Given the description of an element on the screen output the (x, y) to click on. 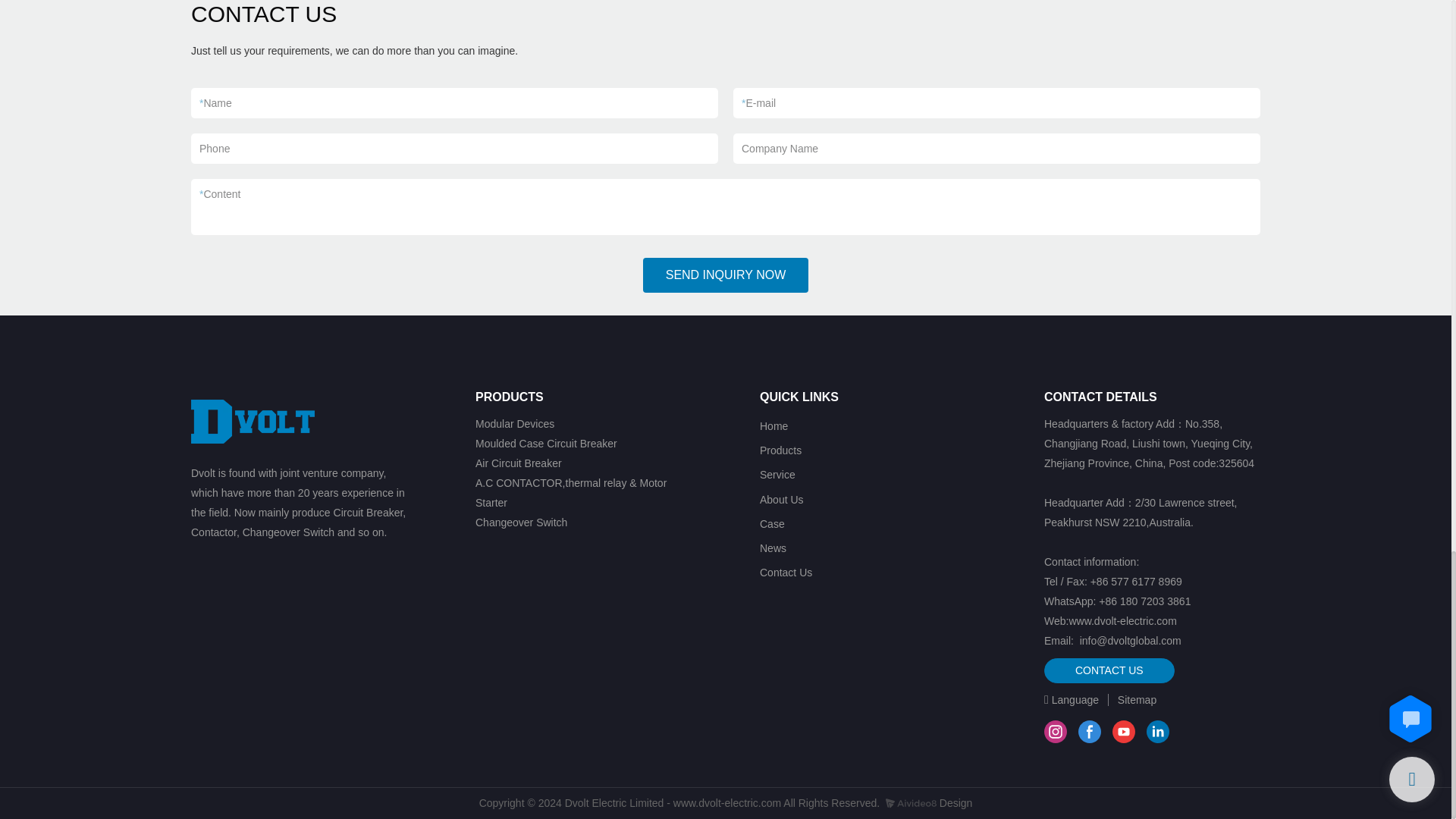
SEND INQUIRY NOW (726, 274)
